Given the description of an element on the screen output the (x, y) to click on. 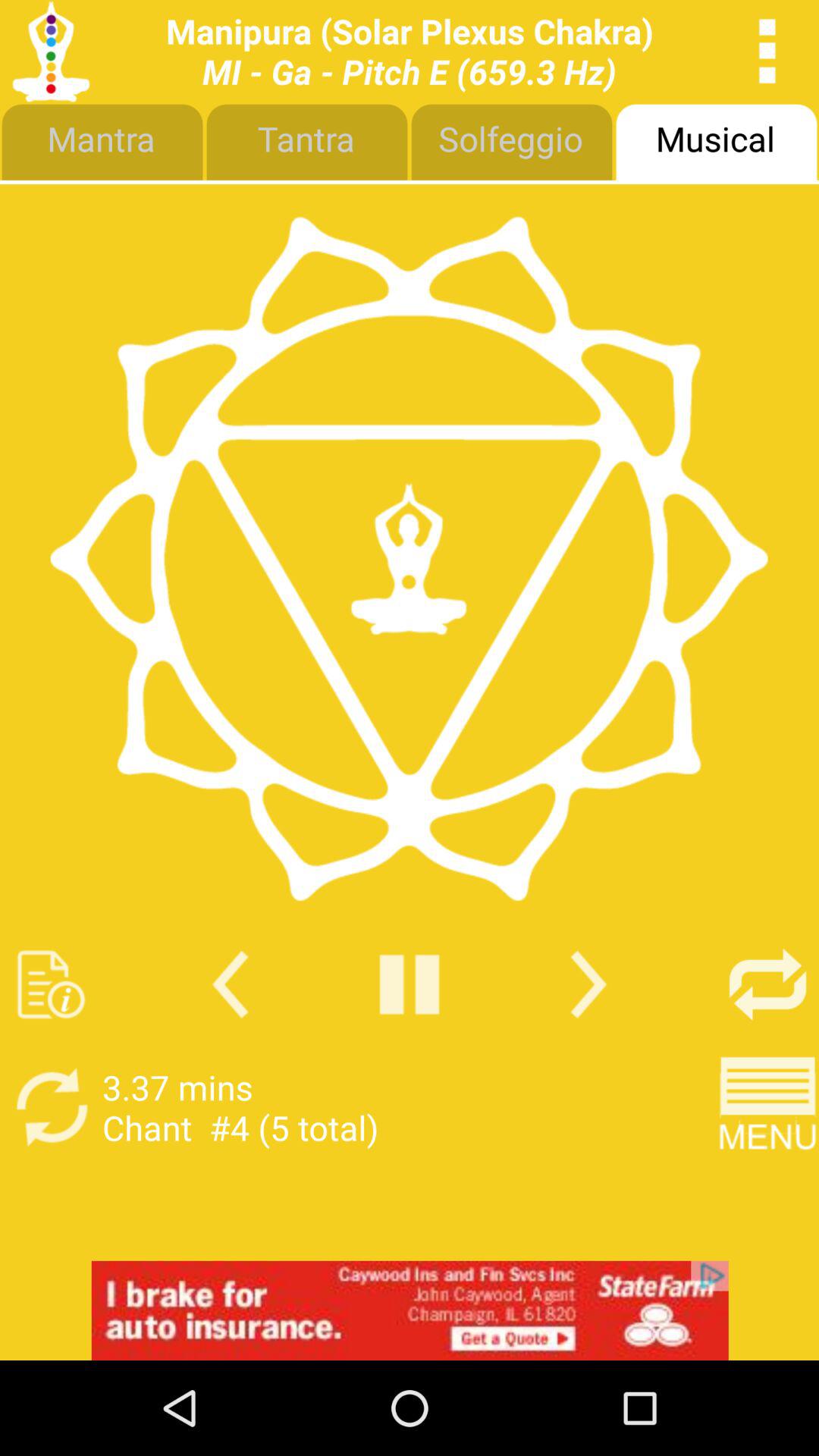
pause audio (409, 984)
